Given the description of an element on the screen output the (x, y) to click on. 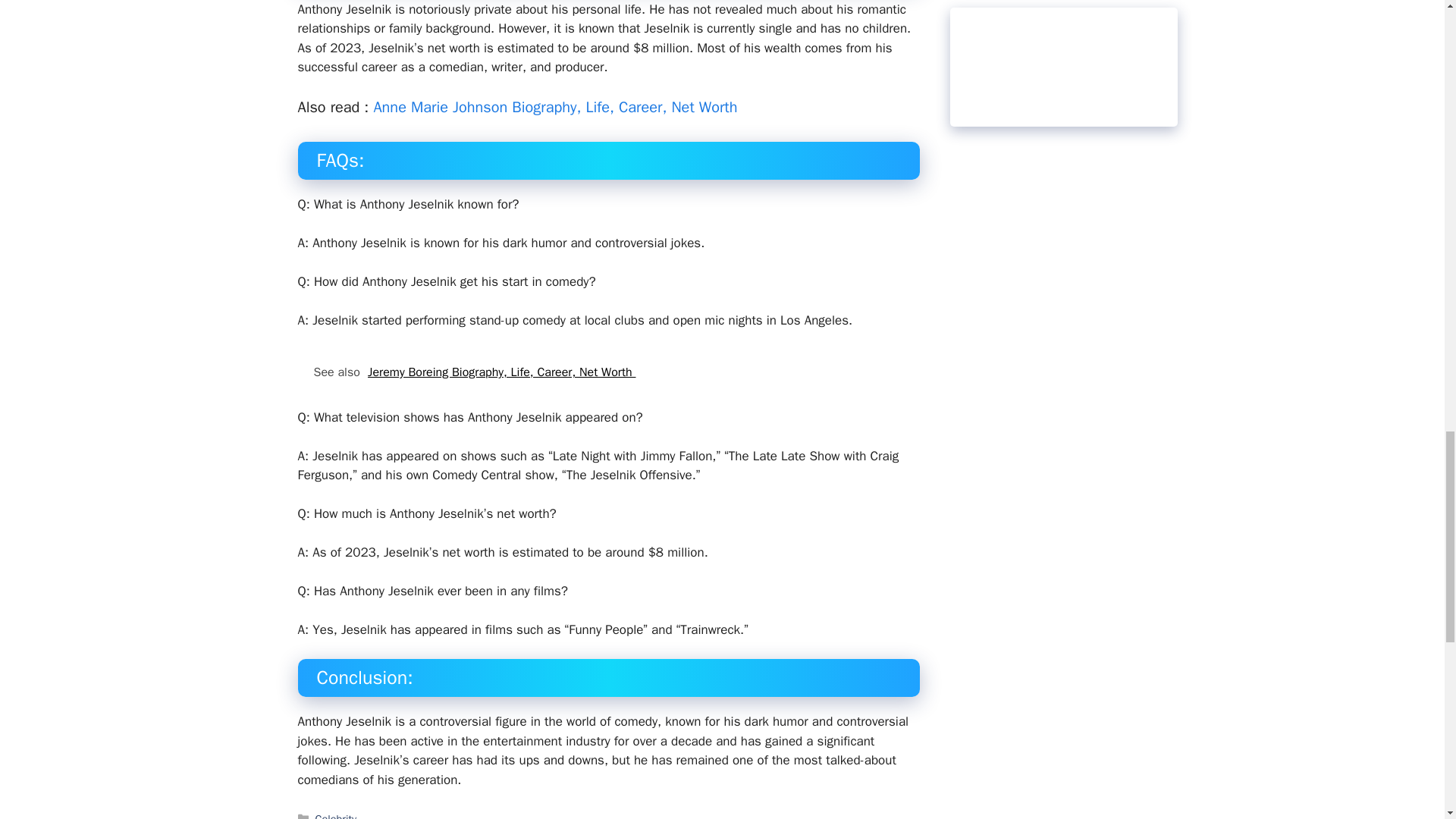
Celebrity (335, 815)
Anne Marie Johnson Biography, Life, Career, Net Worth (554, 107)
See also  Jeremy Boreing Biography, Life, Career, Net Worth  (607, 371)
